Given the description of an element on the screen output the (x, y) to click on. 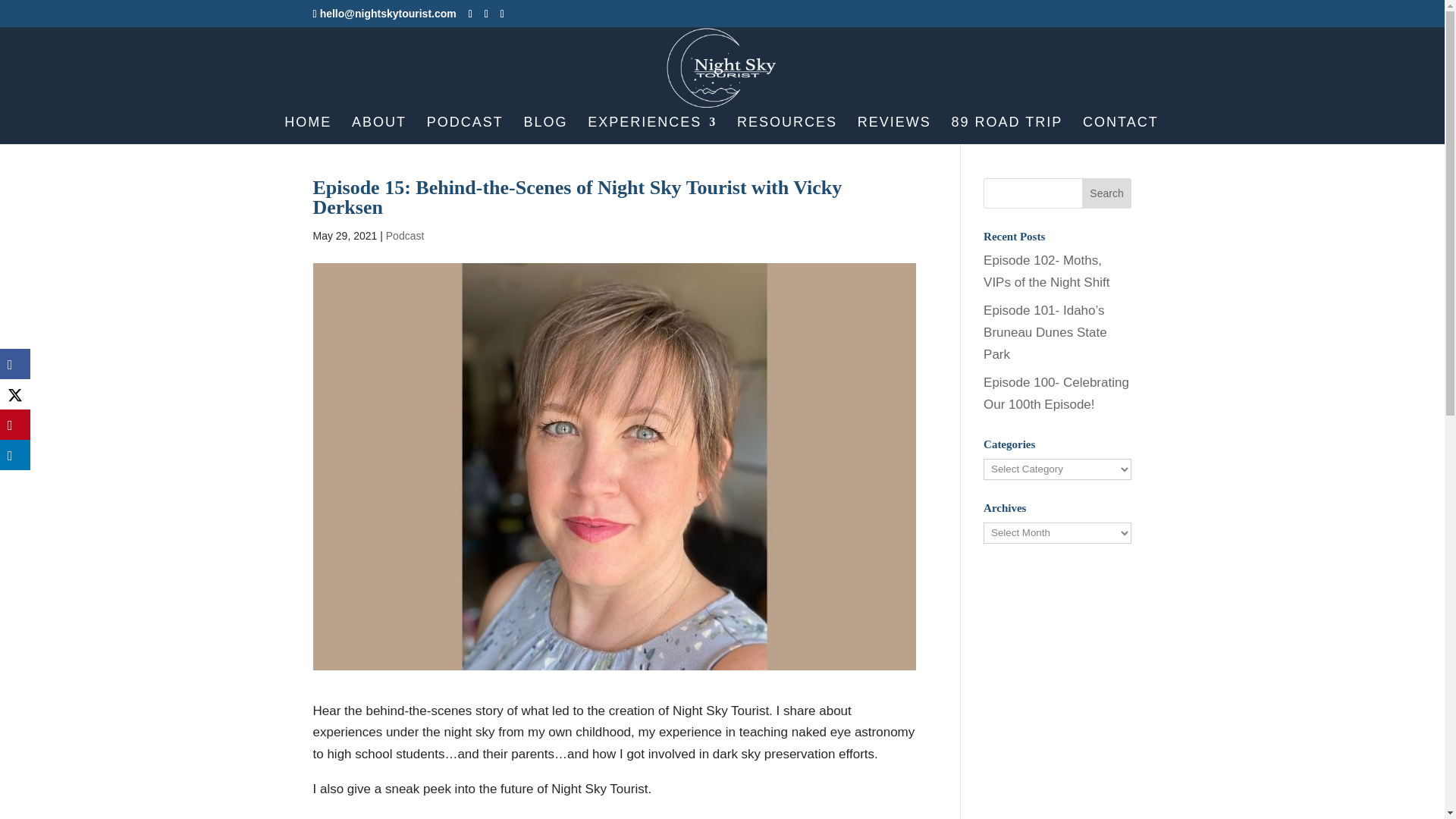
EXPERIENCES (652, 130)
ABOUT (379, 130)
BLOG (545, 130)
Episode 100- Celebrating Our 100th Episode! (1056, 393)
PODCAST (464, 130)
89 ROAD TRIP (1007, 130)
Search (1106, 193)
RESOURCES (786, 130)
REVIEWS (894, 130)
CONTACT (1120, 130)
